Given the description of an element on the screen output the (x, y) to click on. 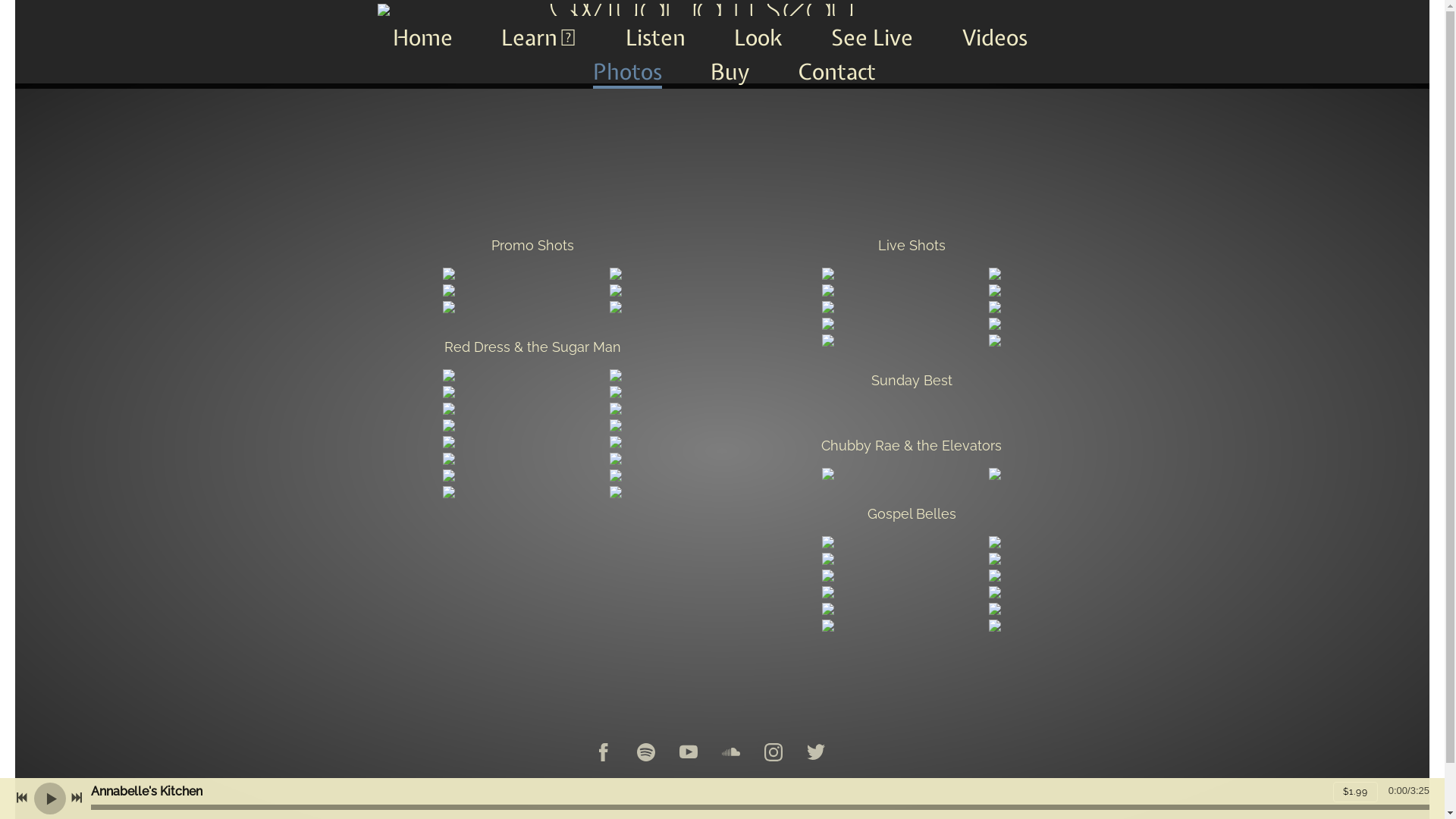
Photos Element type: text (627, 73)
http://soundcloud.com/marisaquigley Element type: hover (730, 754)
http://instagram.com/marisaquigley Element type: hover (773, 754)
Listen Element type: text (655, 39)
Buy Element type: text (729, 73)
Play Element type: hover (49, 797)
Previous track Element type: hover (21, 797)
$1.99 Element type: text (1355, 791)
http://www.facebook.com/marisaraequigley Element type: hover (603, 754)
Look Element type: text (758, 39)
http://twitter.com/marisaquigley Element type: hover (815, 754)
Contact Element type: text (836, 73)
Next track Element type: hover (76, 797)
http://www.youtube.com/marisaquigley Element type: hover (688, 754)
Learn Element type: text (538, 39)
Home Element type: text (422, 39)
See Live Element type: text (872, 39)
Videos Element type: text (994, 39)
